Given the description of an element on the screen output the (x, y) to click on. 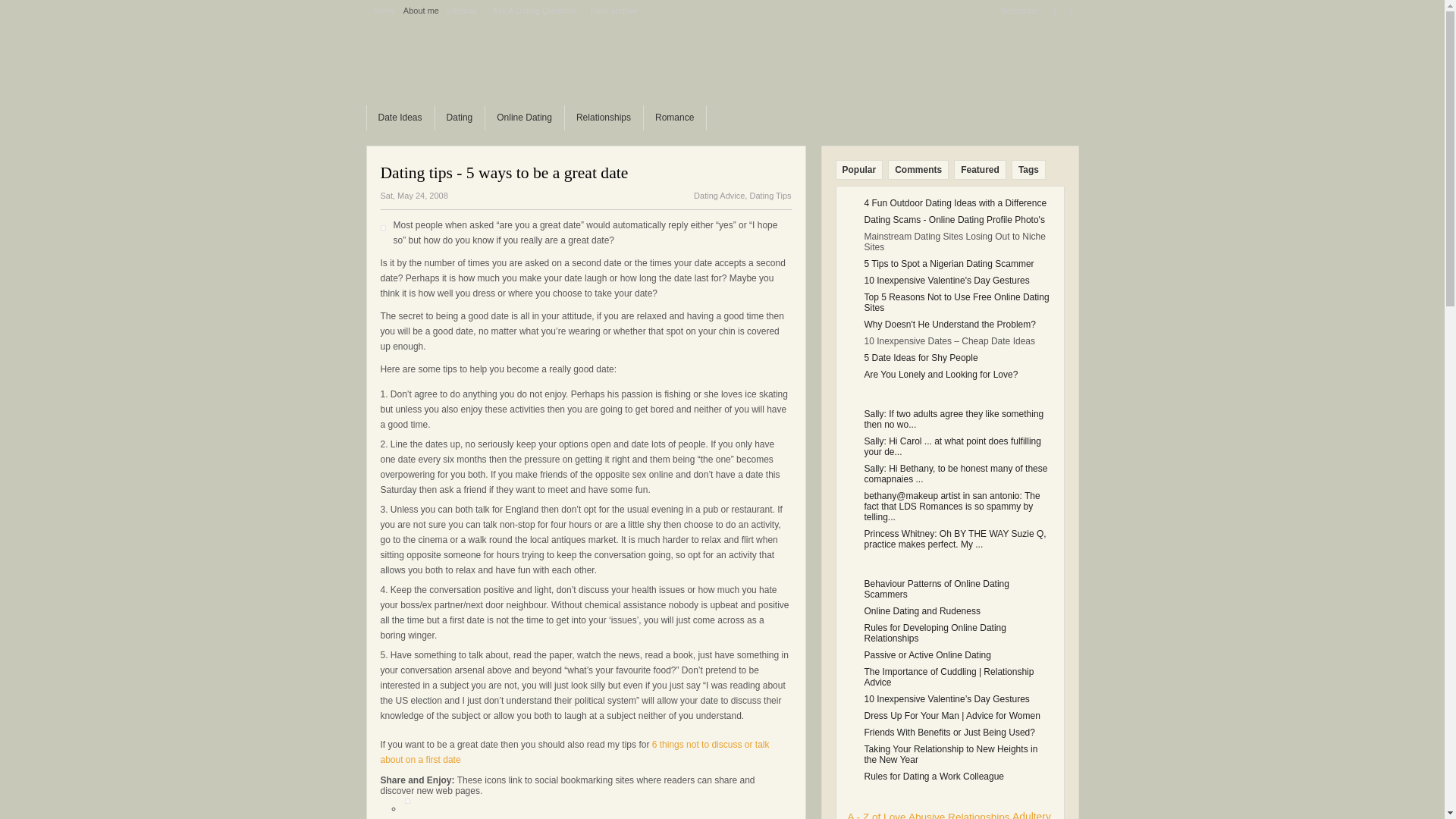
6 things not to discuss or talk about on a first date (575, 751)
Romance (673, 117)
View all posts filed under Date Ideas (399, 117)
Polls archive (614, 11)
Online Dating (523, 117)
Ask A Dating Question (533, 11)
Sitemap (461, 11)
Polls archive (614, 11)
Dating Advice (719, 194)
Dating tips - 5 ways to be a great date (504, 172)
Ask A Dating Question (533, 11)
Home (384, 11)
Dating Tips (769, 194)
Date Ideas (399, 117)
Dating (459, 117)
